Given the description of an element on the screen output the (x, y) to click on. 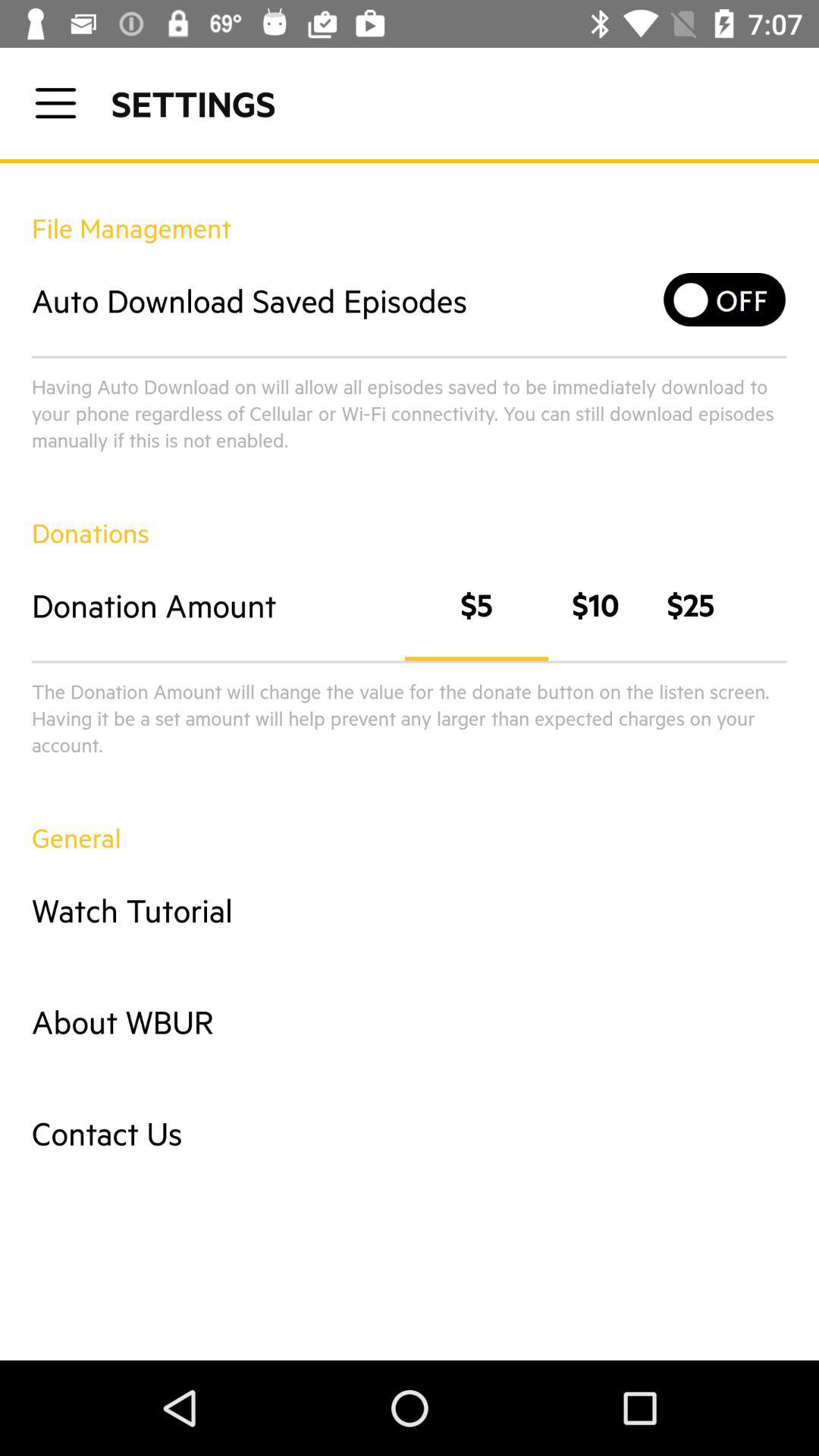
turns off auto download saved episodes (725, 300)
